Given the description of an element on the screen output the (x, y) to click on. 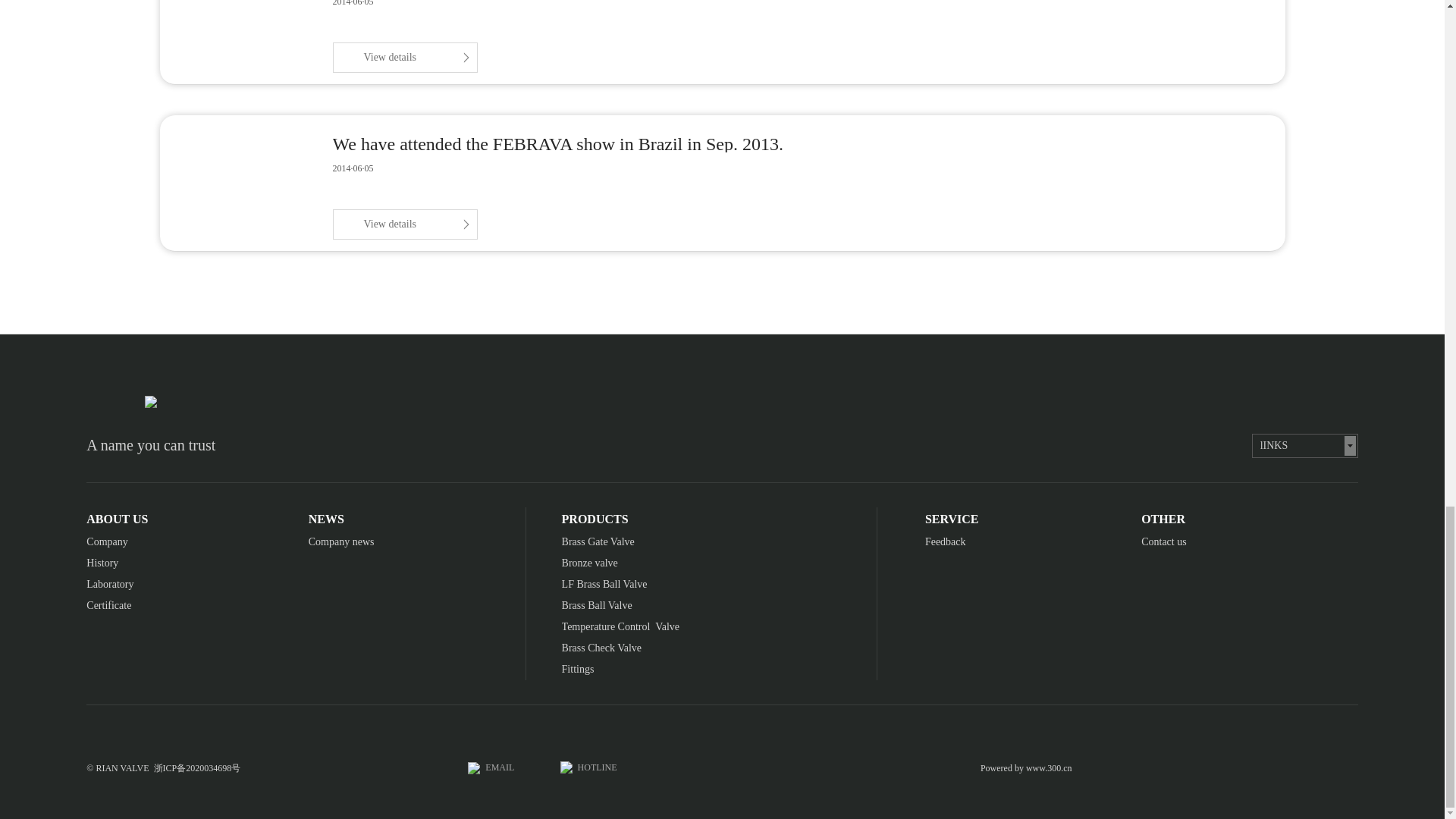
RIAN VALVE (150, 401)
Click to see details (404, 57)
RIAN VALVE (473, 767)
Click to see details (404, 224)
